Given the description of an element on the screen output the (x, y) to click on. 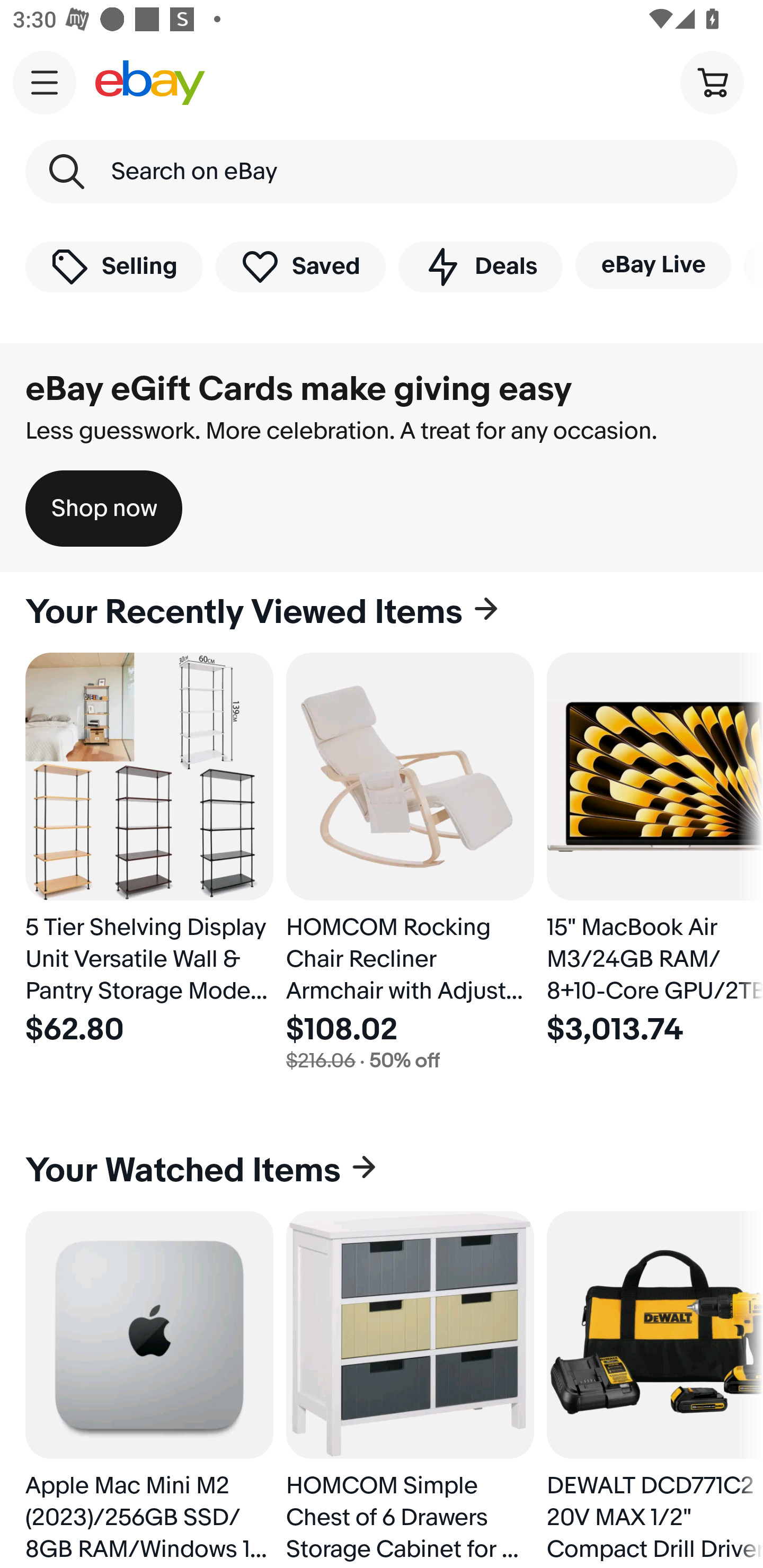
Main navigation, open (44, 82)
Search on eBay Search Keyword Search on eBay (381, 171)
Search on eBay Search Keyword Search on eBay (381, 171)
Selling (113, 266)
Saved (300, 266)
Deals (480, 266)
eBay Live (652, 264)
eBay eGift Cards make giving easy (298, 389)
Shop now (103, 508)
Your Recently Viewed Items   (381, 612)
Your Watched Items   (381, 1170)
